Given the description of an element on the screen output the (x, y) to click on. 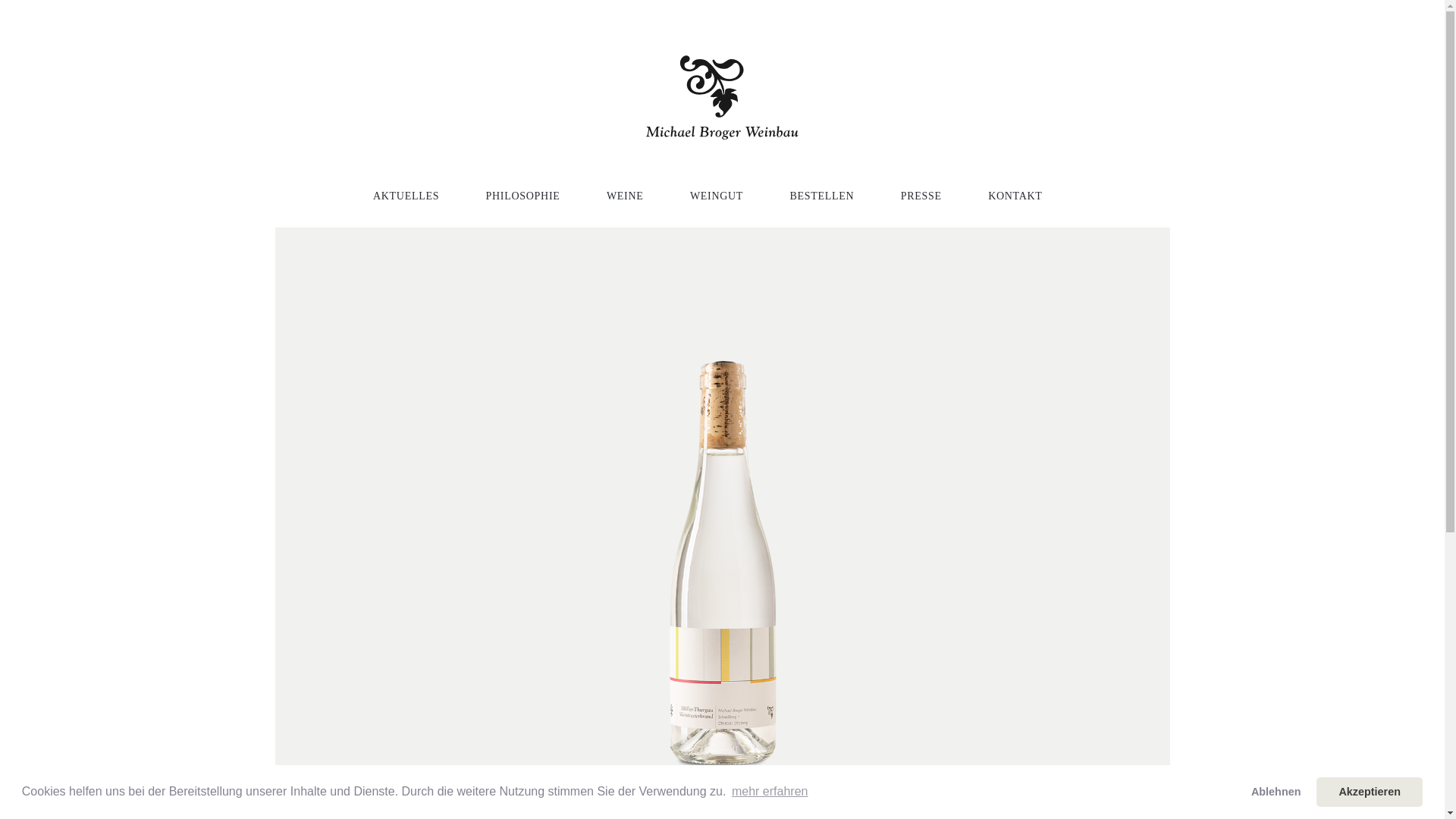
Michael Broger - Weinbau Element type: hover (722, 97)
AKTUELLES Element type: text (420, 196)
BESTELLEN Element type: text (836, 196)
WEINE Element type: text (639, 196)
WEINGUT Element type: text (731, 196)
KONTAKT Element type: text (1029, 196)
PHILOSOPHIE Element type: text (537, 196)
PRESSE Element type: text (935, 196)
Akzeptieren Element type: text (1369, 791)
Ablehnen Element type: text (1275, 791)
mehr erfahren Element type: text (769, 791)
